Given the description of an element on the screen output the (x, y) to click on. 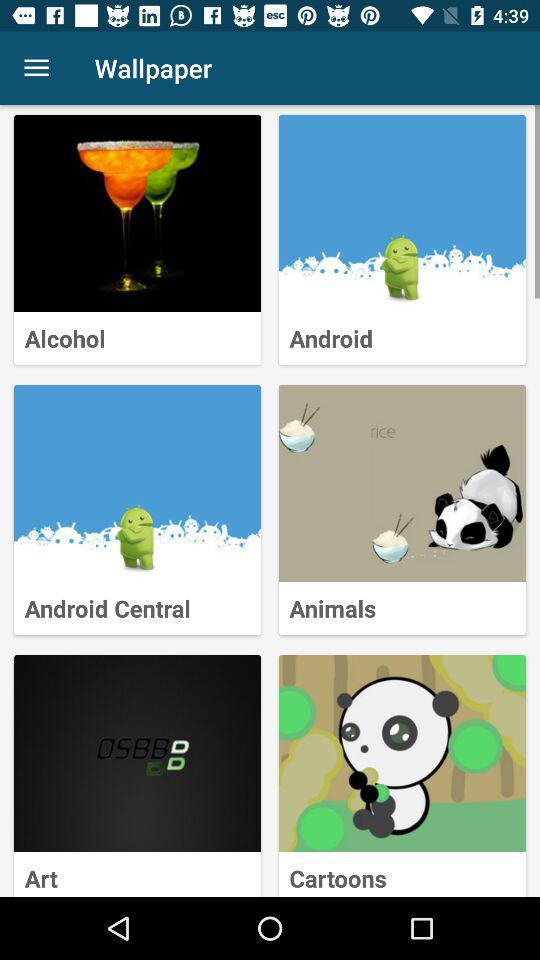
choose art wallpaper (137, 753)
